Given the description of an element on the screen output the (x, y) to click on. 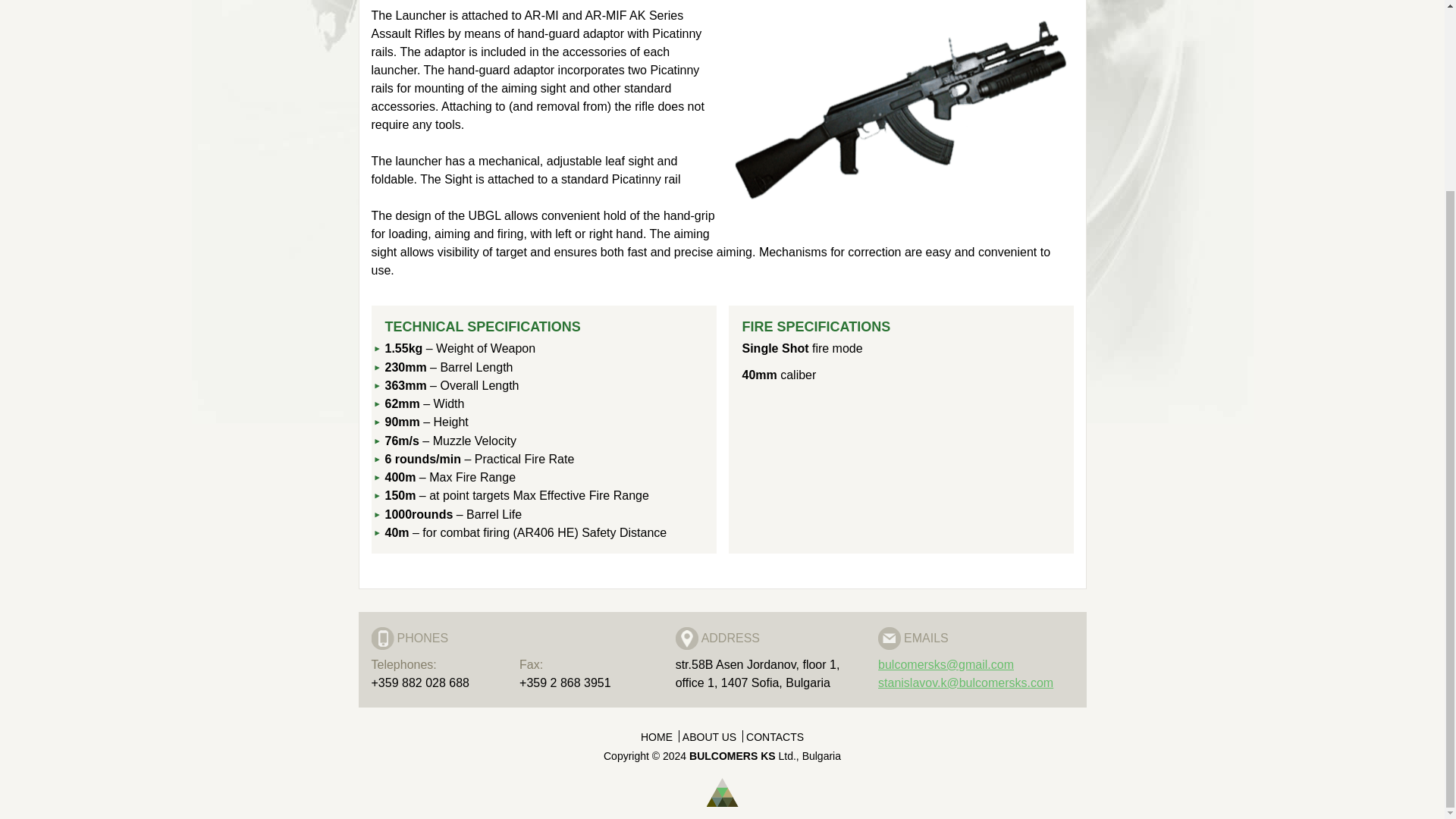
CONTACTS (774, 737)
ABOUT US (709, 737)
HOME (656, 737)
